Given the description of an element on the screen output the (x, y) to click on. 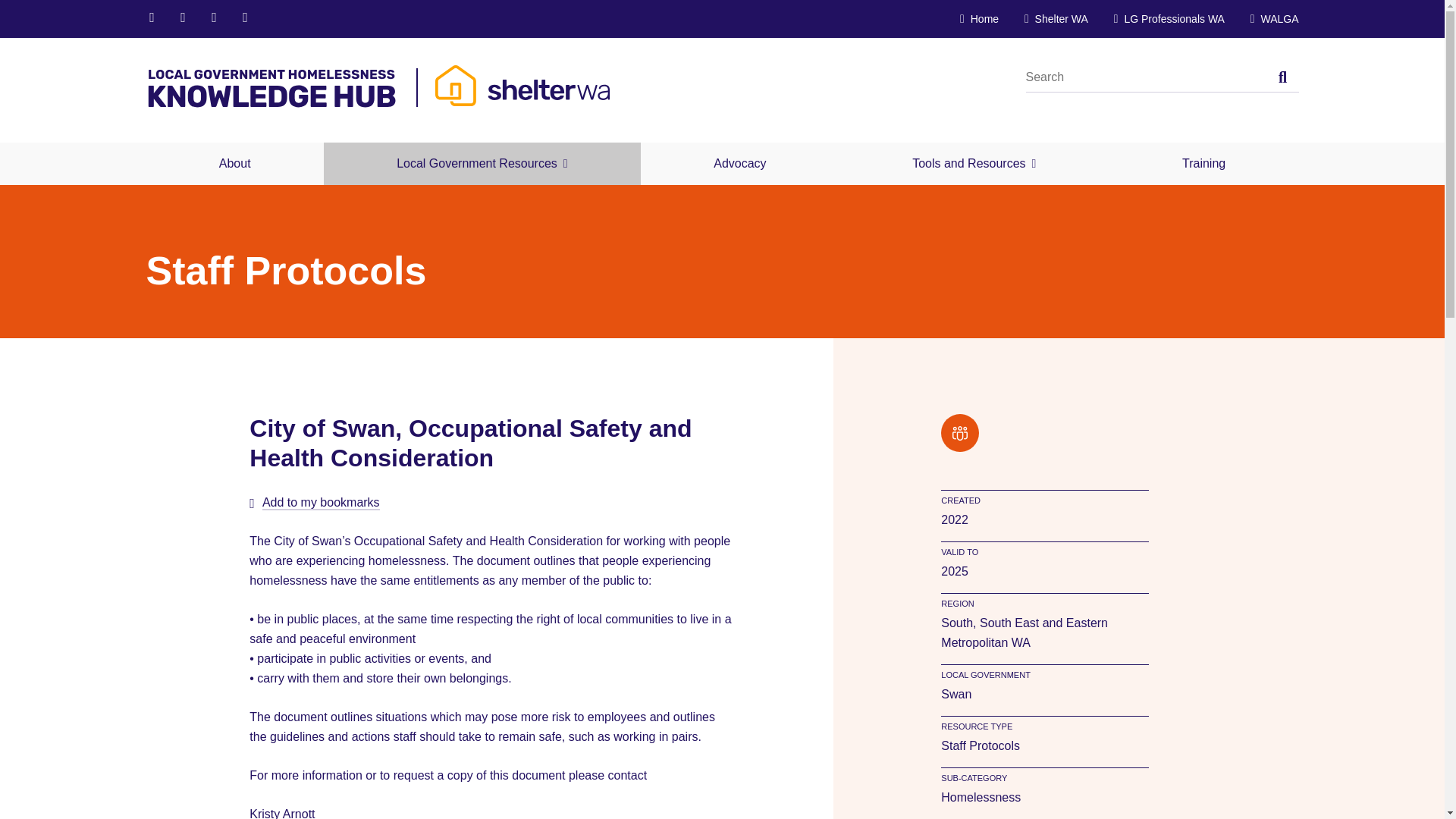
LG Professionals WA (1168, 19)
Shelter WA Local Government Homelessness Knowledge Hub (376, 89)
Shelter WA (1056, 19)
Tools and Resources (974, 163)
Advocacy (740, 163)
Local Government Resources (481, 163)
About (234, 163)
Submit website search (1283, 77)
Home (978, 19)
Training (1203, 163)
WALGA (1274, 19)
